Given the description of an element on the screen output the (x, y) to click on. 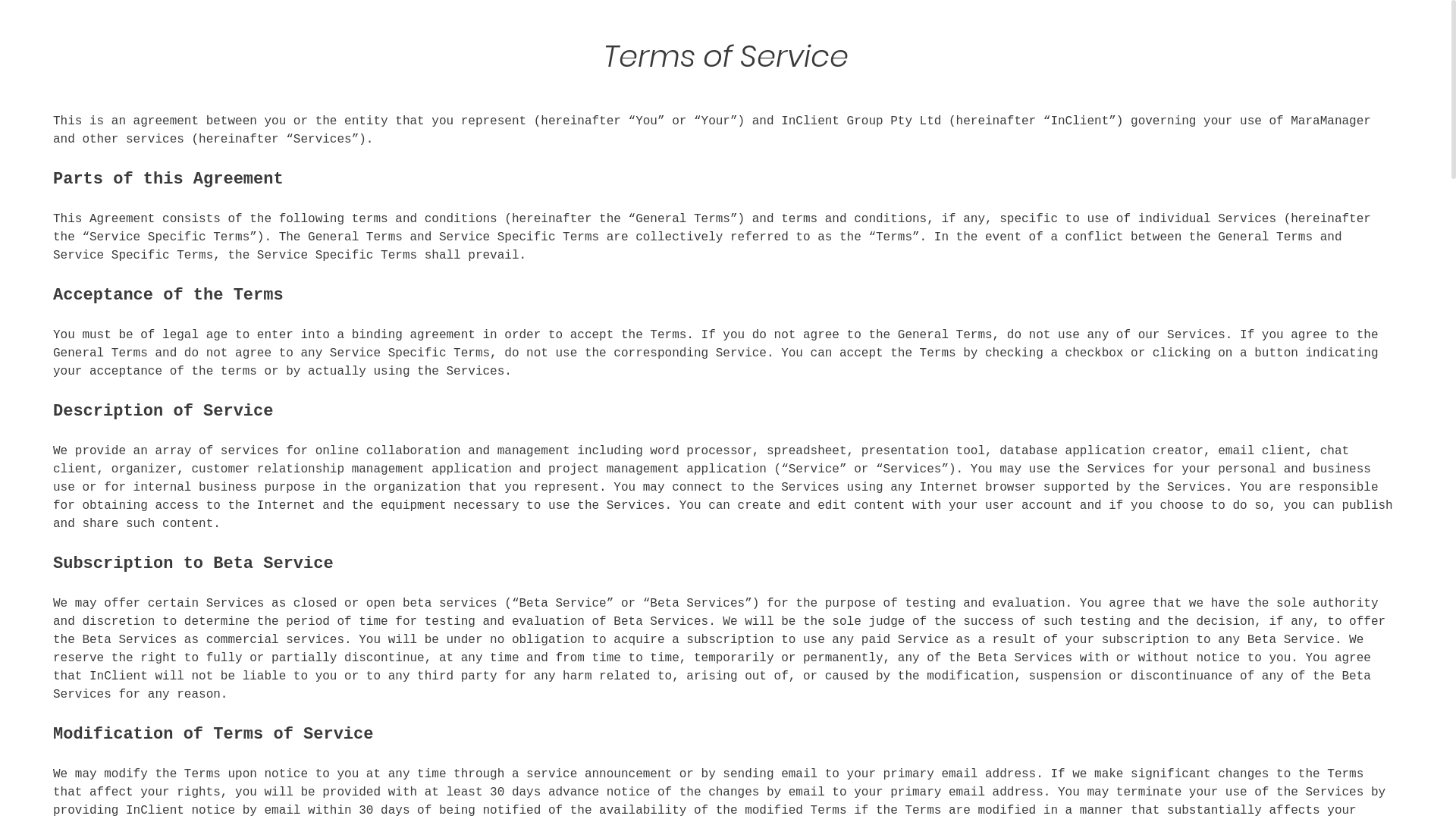
Features Element type: text (855, 33)
Contact Us Element type: text (1113, 33)
Pricing Element type: text (1029, 33)
Skip to content Element type: text (0, 0)
Services Element type: text (944, 33)
MaraManager Element type: hover (369, 33)
MaraManager Element type: hover (369, 34)
Home Element type: text (781, 33)
